Given the description of an element on the screen output the (x, y) to click on. 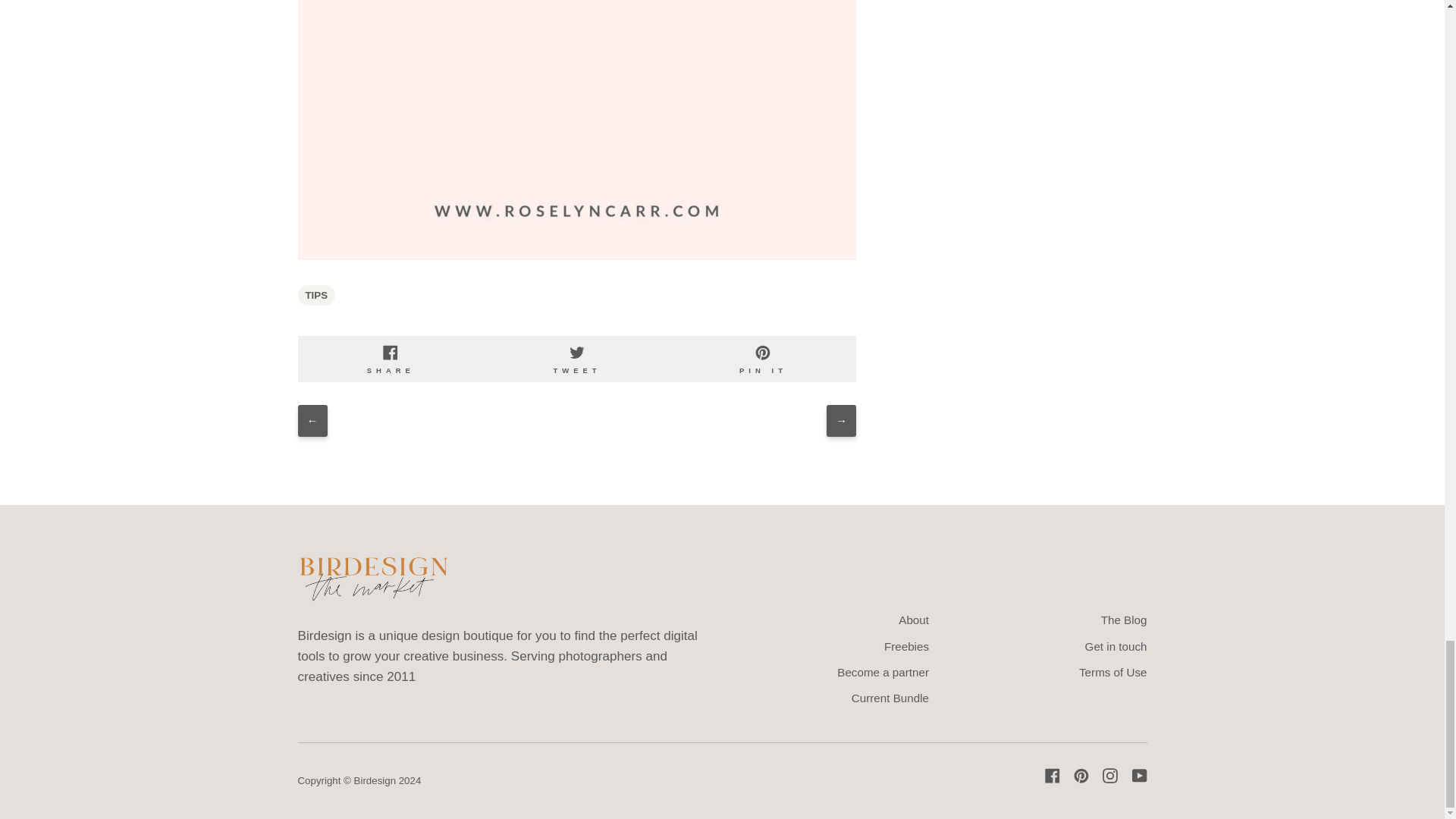
Birdesign on Pinterest (1081, 774)
Birdesign on Instagram (1110, 774)
Birdesign on YouTube (1139, 774)
Birdesign on Facebook (1052, 774)
